Given the description of an element on the screen output the (x, y) to click on. 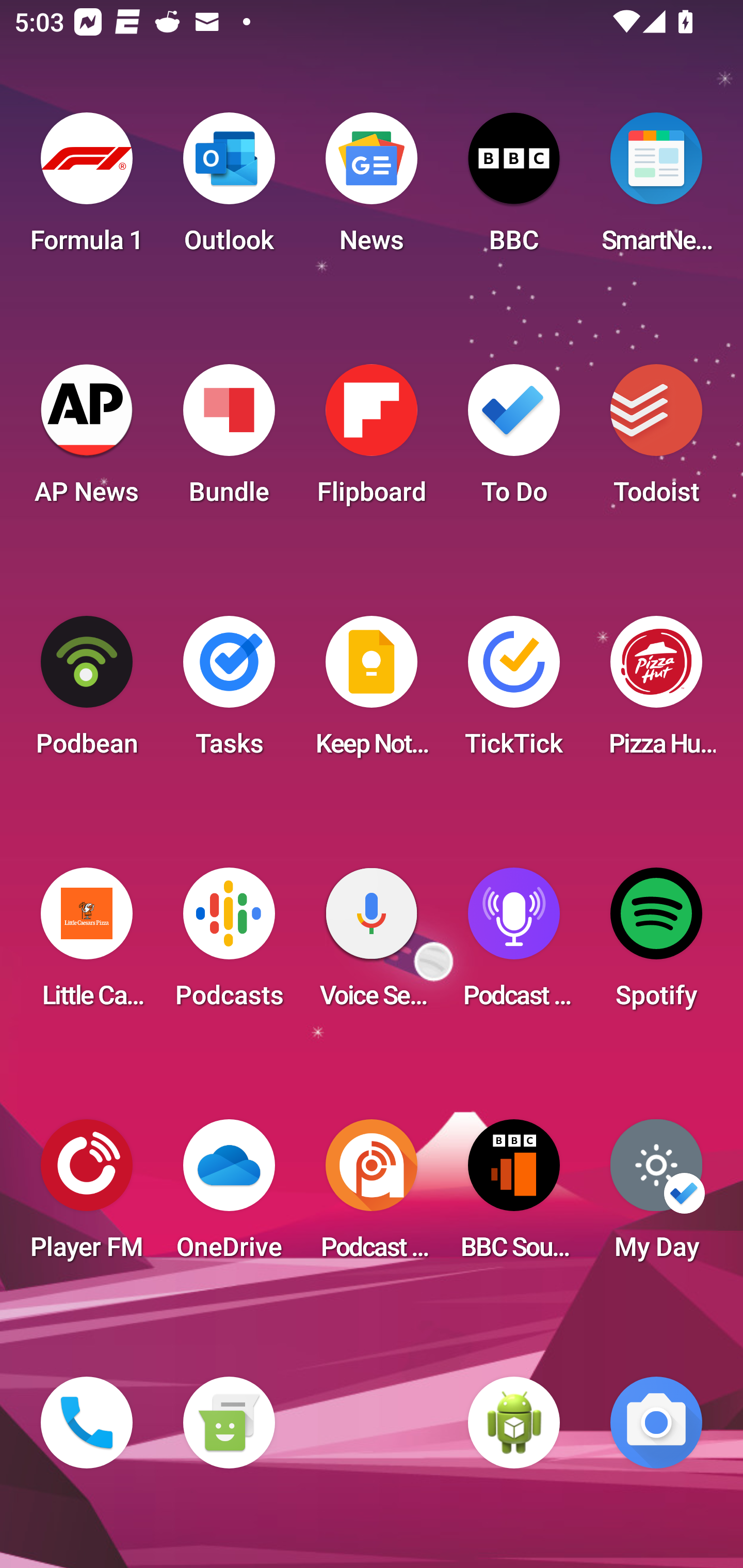
Formula 1 (86, 188)
Outlook (228, 188)
News (371, 188)
BBC (513, 188)
SmartNews (656, 188)
AP News (86, 440)
Bundle (228, 440)
Flipboard (371, 440)
To Do (513, 440)
Todoist (656, 440)
Podbean (86, 692)
Tasks (228, 692)
Keep Notes (371, 692)
TickTick (513, 692)
Pizza Hut HK & Macau (656, 692)
Little Caesars Pizza (86, 943)
Podcasts (228, 943)
Voice Search (371, 943)
Podcast Player (513, 943)
Spotify (656, 943)
Player FM (86, 1195)
OneDrive (228, 1195)
Podcast Addict (371, 1195)
BBC Sounds (513, 1195)
My Day (656, 1195)
Phone (86, 1422)
Messaging (228, 1422)
WebView Browser Tester (513, 1422)
Camera (656, 1422)
